Given the description of an element on the screen output the (x, y) to click on. 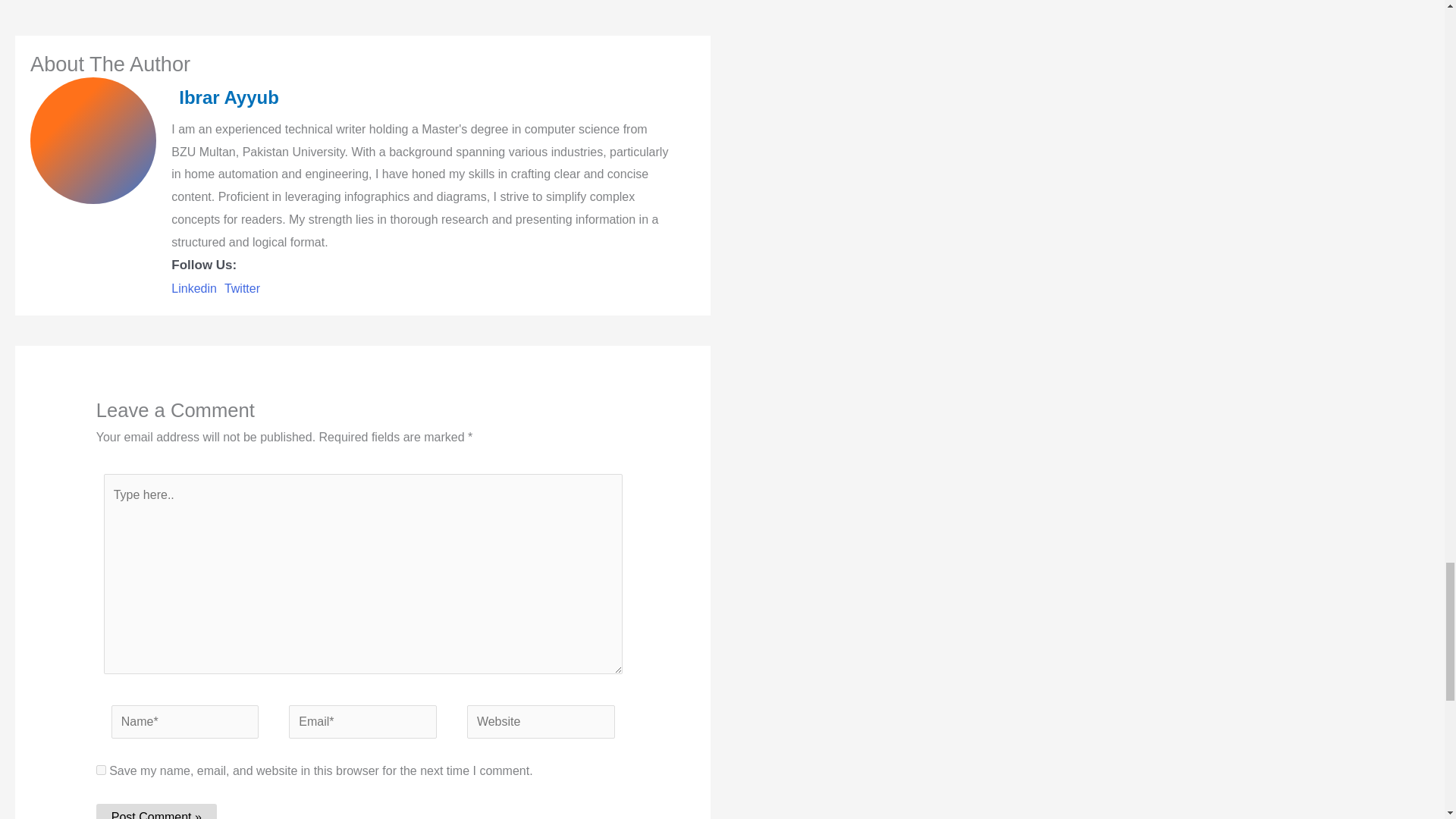
yes (101, 769)
Microchip PIC Programmer ICSP Circuit Requirements (61, 5)
System is Down Detector (674, 5)
